Given the description of an element on the screen output the (x, y) to click on. 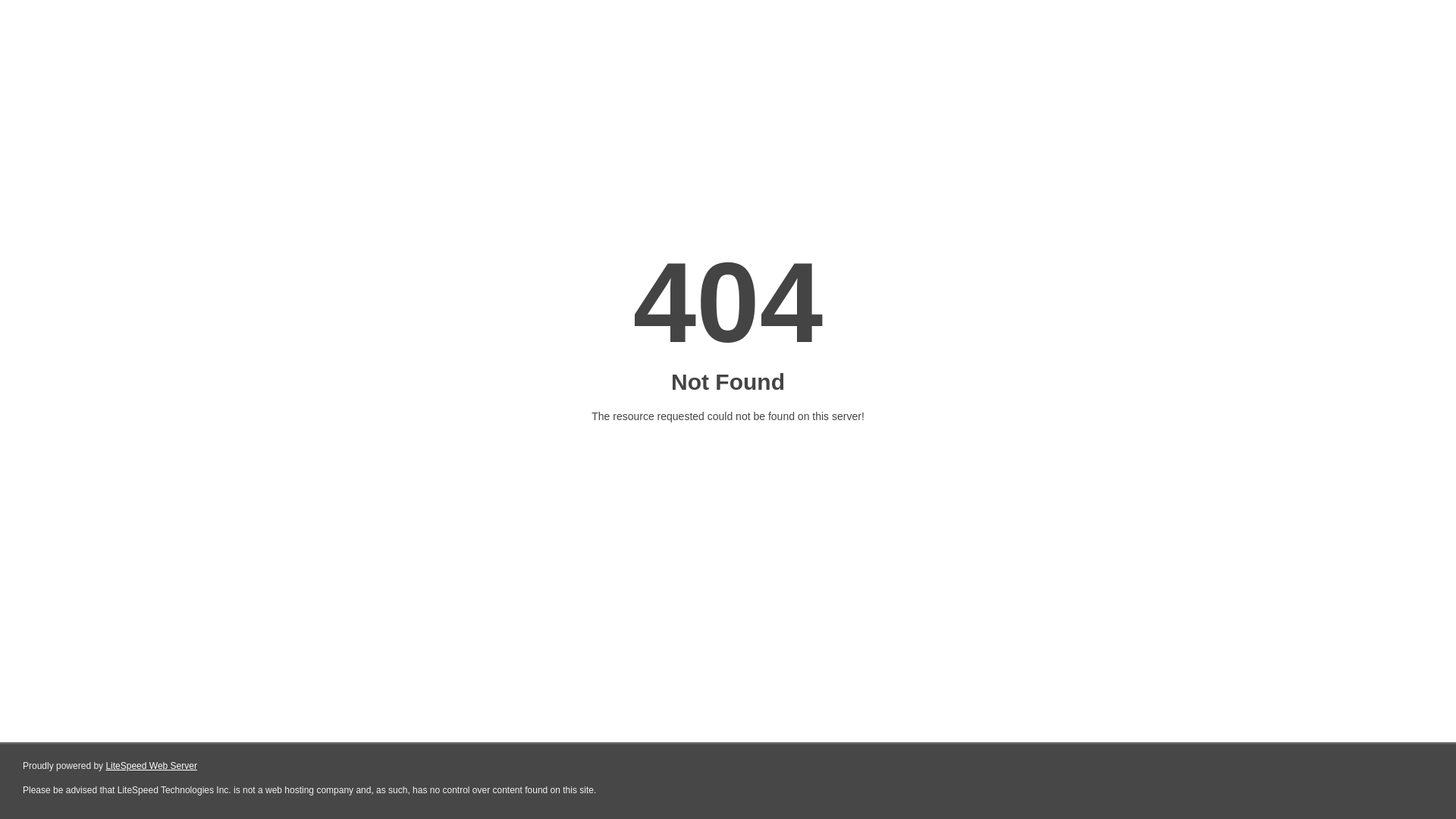
LiteSpeed Web Server Element type: text (151, 765)
